Given the description of an element on the screen output the (x, y) to click on. 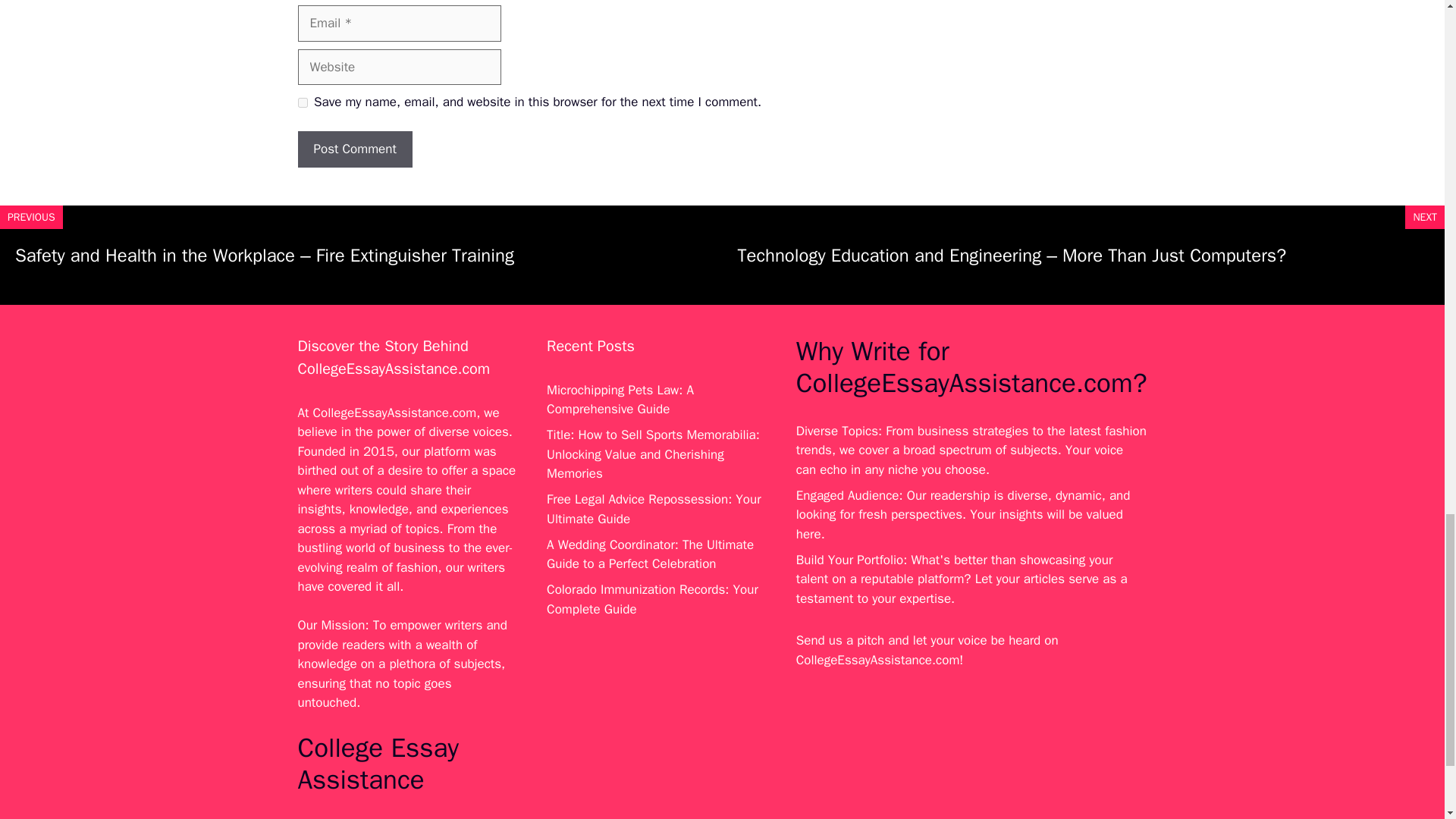
Post Comment (354, 149)
Free Legal Advice Repossession: Your Ultimate Guide (654, 509)
Microchipping Pets Law: A Comprehensive Guide (620, 399)
Colorado Immunization Records: Your Complete Guide (652, 599)
Post Comment (354, 149)
Send us a pitch (839, 640)
yes (302, 102)
